Given the description of an element on the screen output the (x, y) to click on. 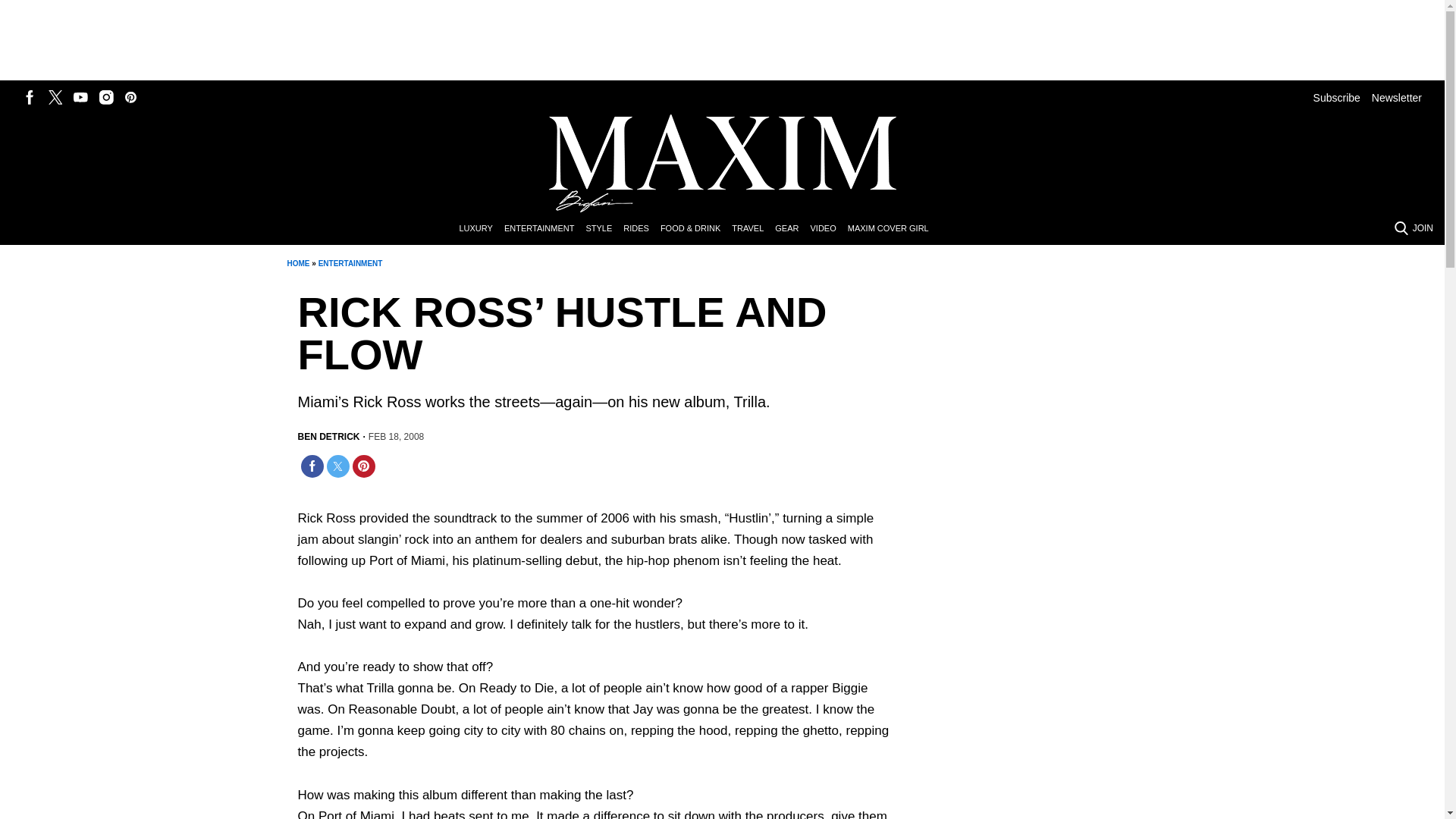
ENTERTAINMENT (350, 263)
BEN DETRICK (328, 436)
Share on Facebook (311, 466)
ENTERTAINMENT (544, 228)
JOIN (1422, 228)
Follow us on Instagram (106, 97)
GEAR (791, 228)
HOME (297, 263)
LUXURY (480, 228)
Follow us on Facebook (30, 97)
